Given the description of an element on the screen output the (x, y) to click on. 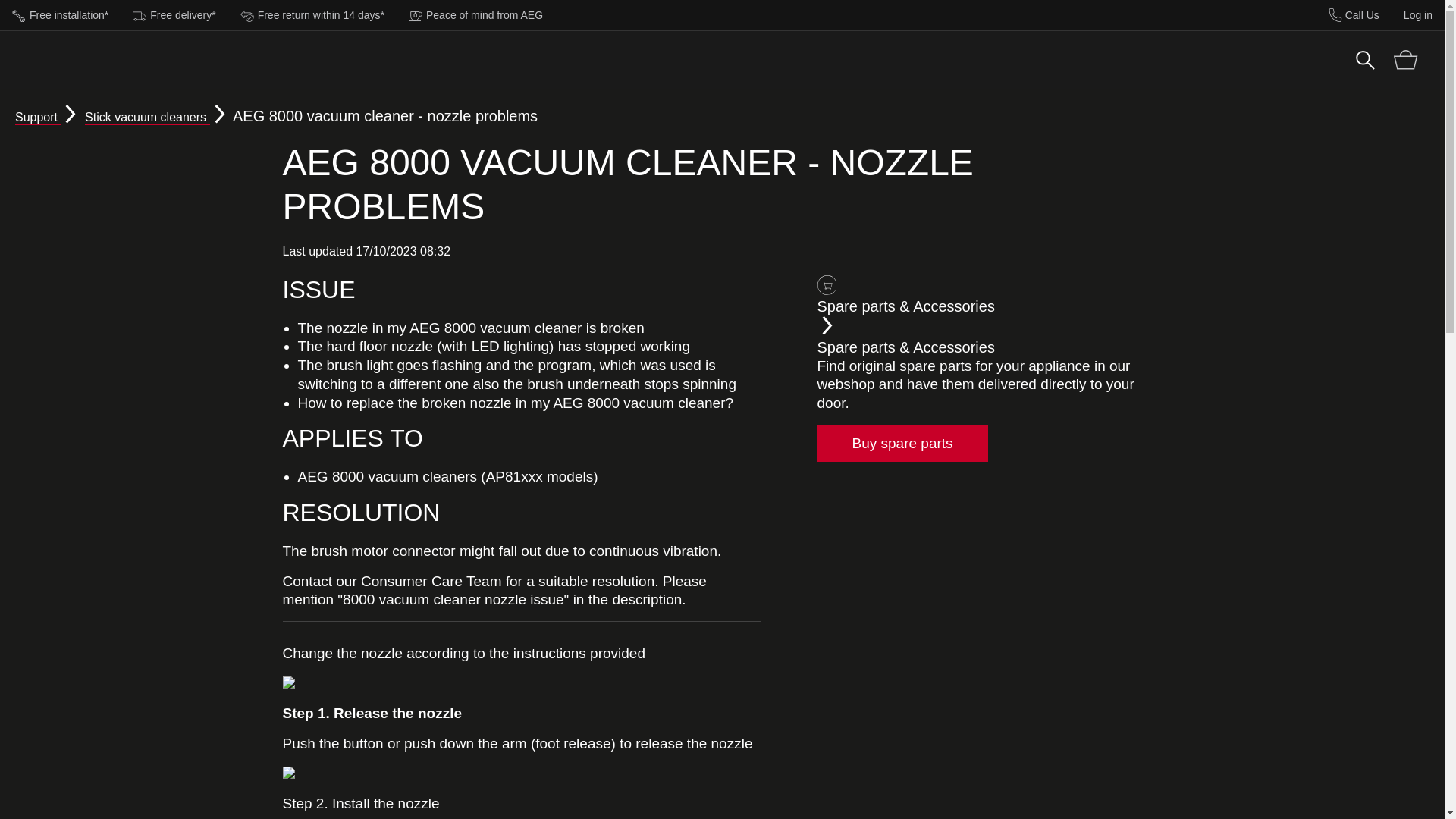
Peace of mind from AEG (475, 14)
Call Us (1354, 15)
Search (1364, 59)
